Given the description of an element on the screen output the (x, y) to click on. 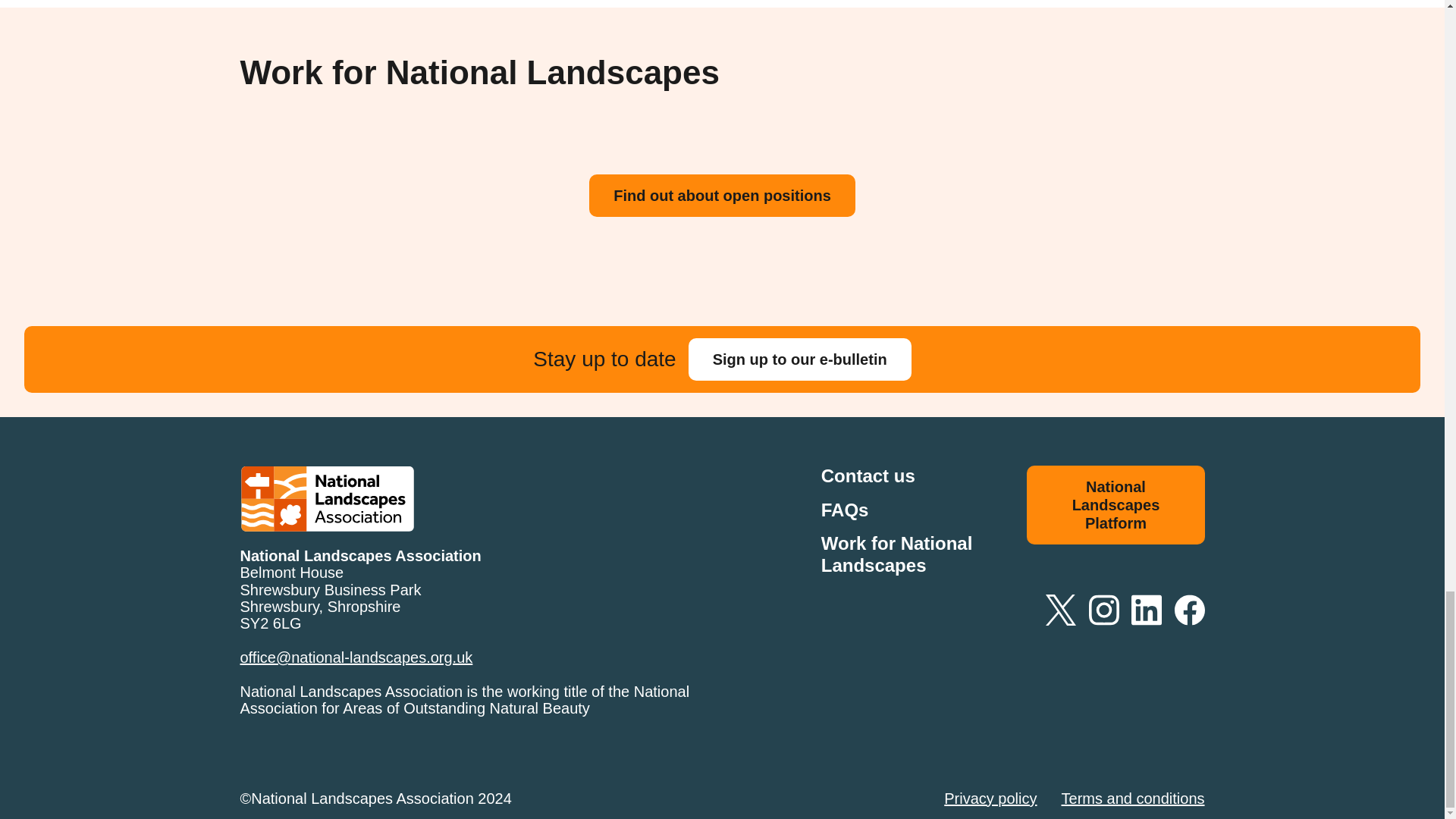
Contact us (868, 476)
Find out about open positions (722, 195)
FAQs (845, 509)
Sign up to our e-bulletin (799, 359)
